Given the description of an element on the screen output the (x, y) to click on. 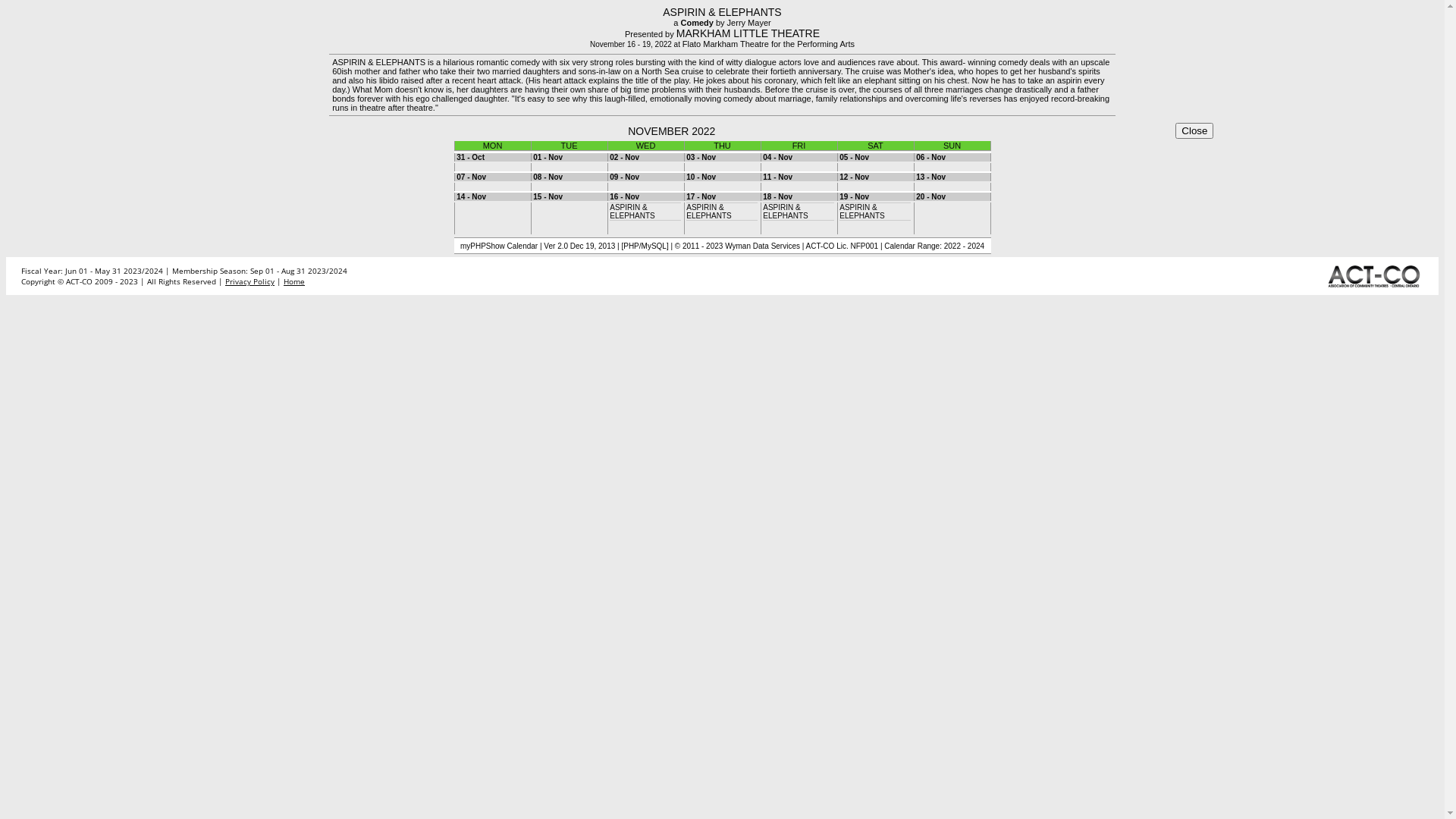
Privacy Policy Element type: text (249, 281)
Home Element type: text (293, 281)
Close Element type: text (1194, 130)
